Given the description of an element on the screen output the (x, y) to click on. 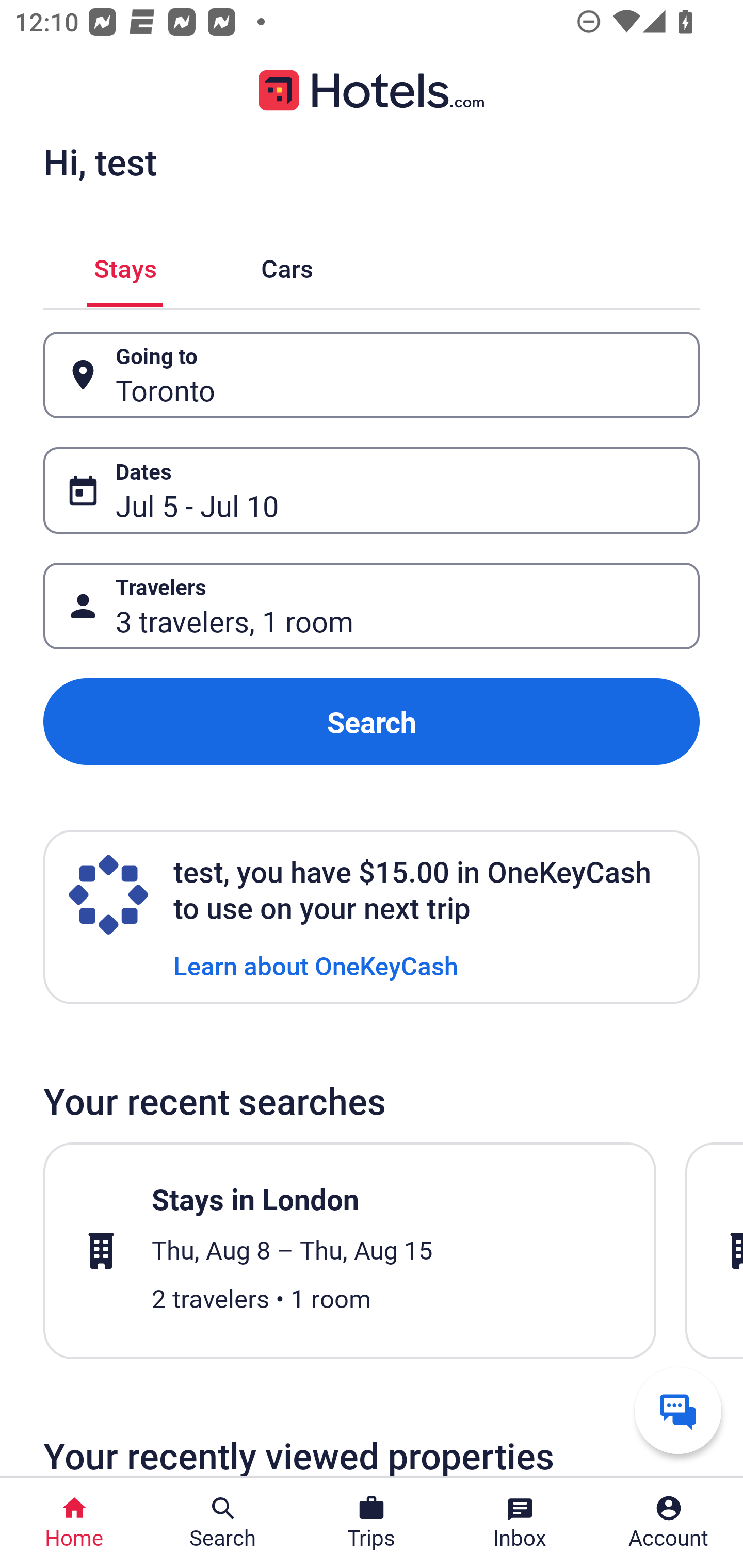
Hi, test (99, 161)
Cars (286, 265)
Going to Button Toronto (371, 375)
Dates Button Jul 5 - Jul 10 (371, 489)
Travelers Button 3 travelers, 1 room (371, 605)
Search (371, 721)
Learn about OneKeyCash Learn about OneKeyCash Link (315, 964)
Get help from a virtual agent (677, 1410)
Search Search Button (222, 1522)
Trips Trips Button (371, 1522)
Inbox Inbox Button (519, 1522)
Account Profile. Button (668, 1522)
